Given the description of an element on the screen output the (x, y) to click on. 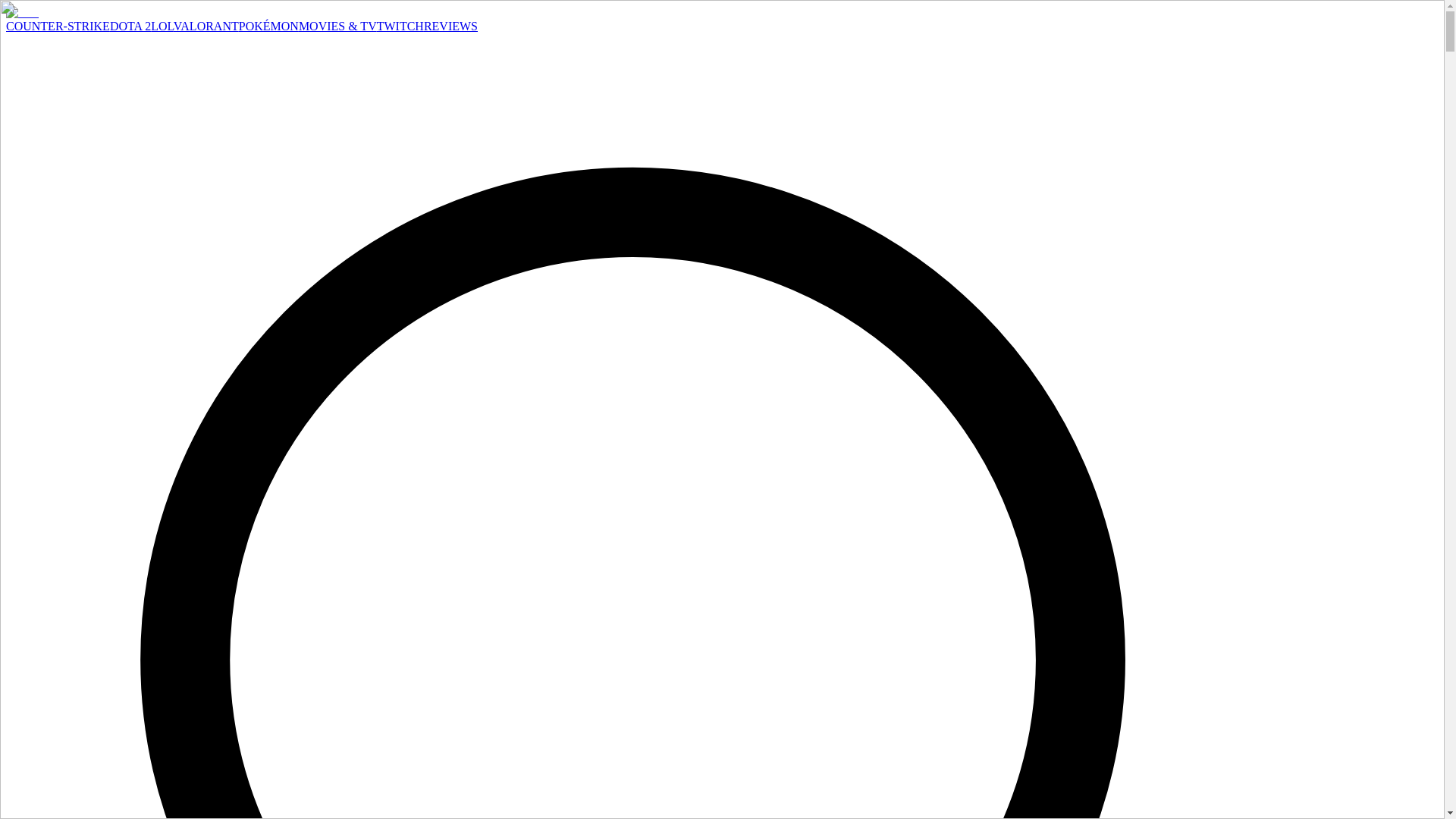
REVIEWS (450, 25)
LOL (162, 25)
VALORANT (205, 25)
DOTA 2 (130, 25)
TWITCH (400, 25)
COUNTER-STRIKE (57, 25)
